Given the description of an element on the screen output the (x, y) to click on. 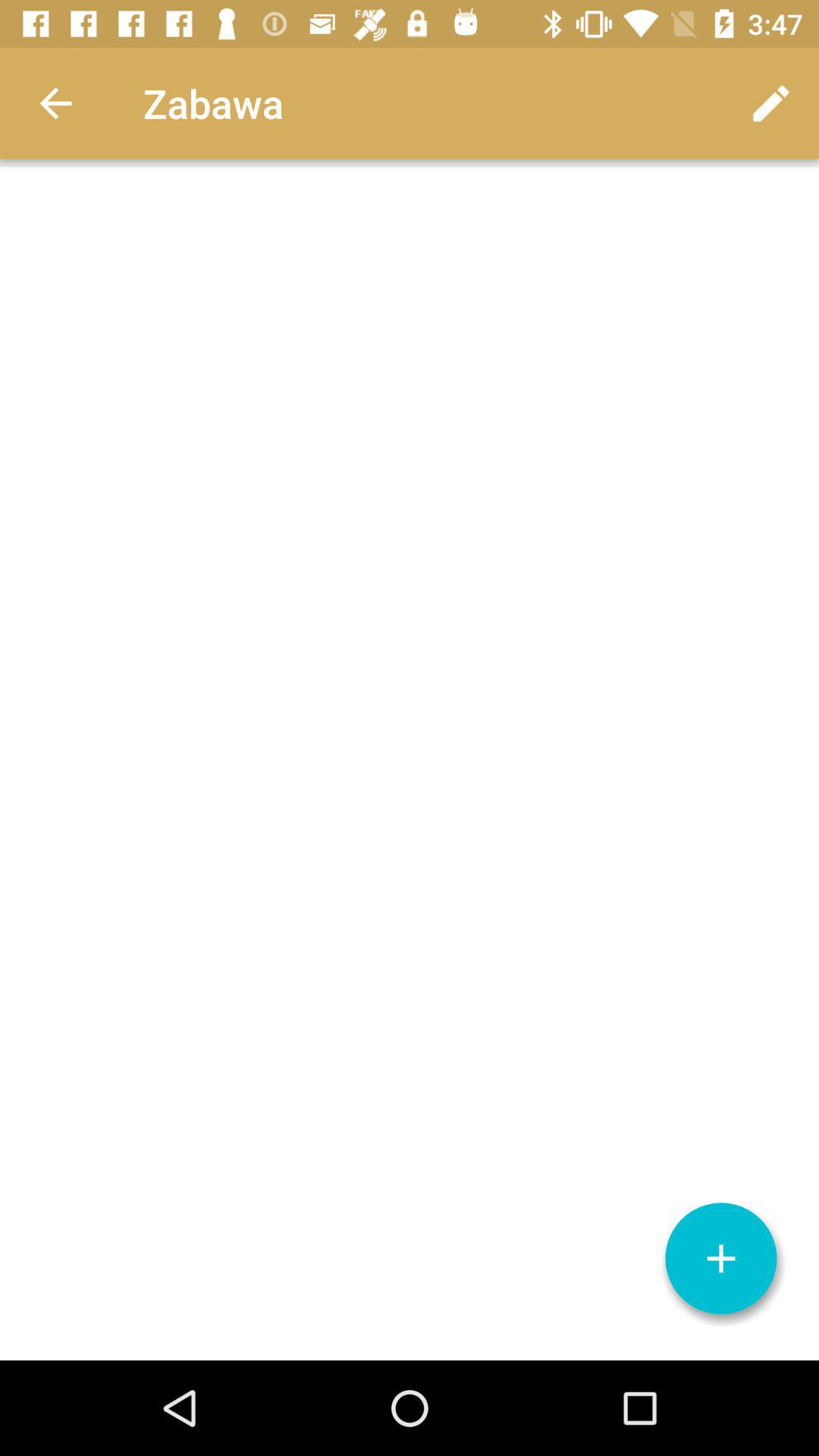
turn off item to the left of the zabawa item (55, 103)
